Given the description of an element on the screen output the (x, y) to click on. 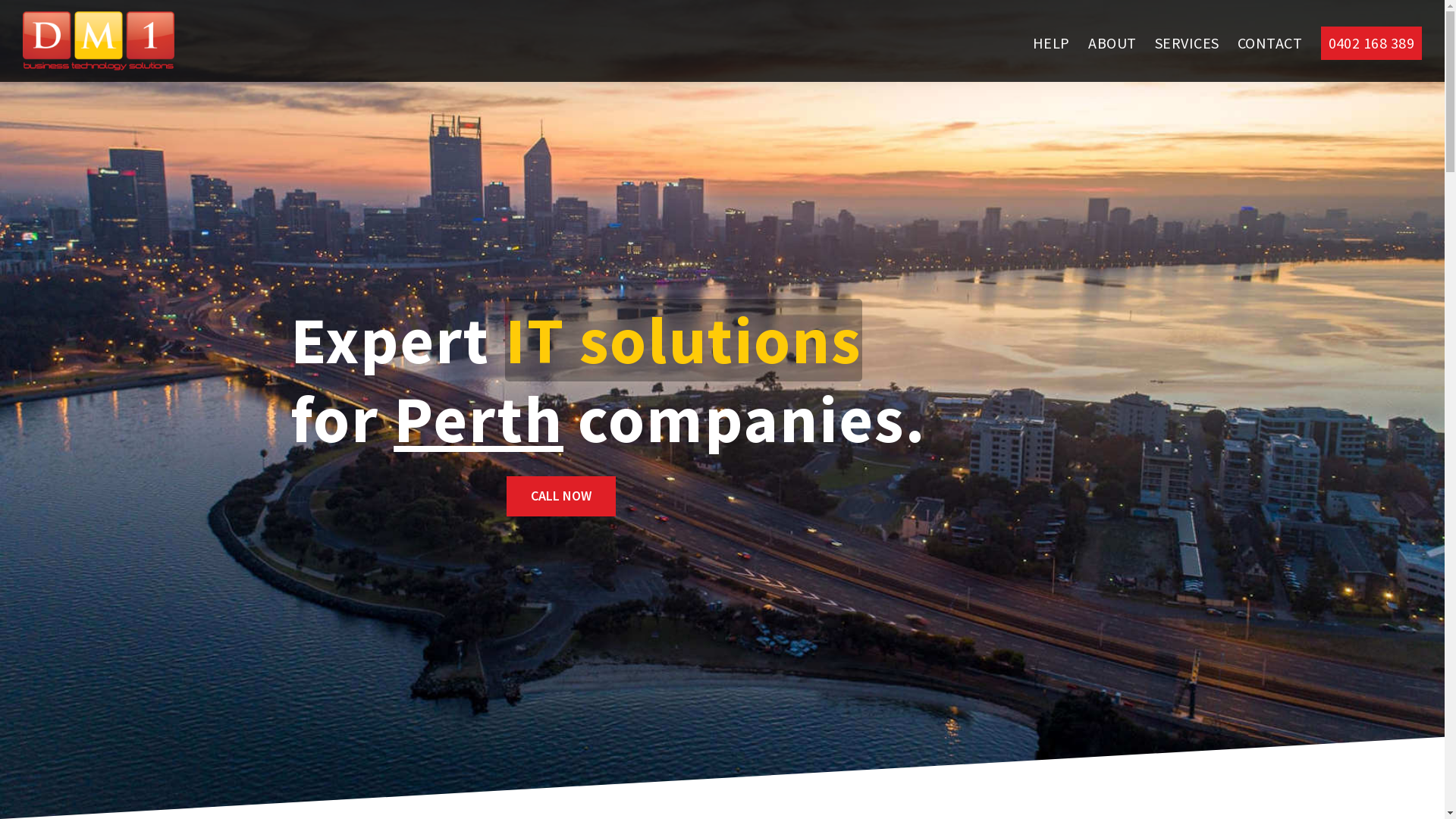
0402 168 389 Element type: text (1371, 42)
ABOUT Element type: text (1111, 42)
HELP Element type: text (1051, 42)
CONTACT Element type: text (1269, 42)
SERVICES Element type: text (1186, 42)
CALL NOW Element type: text (560, 496)
